Given the description of an element on the screen output the (x, y) to click on. 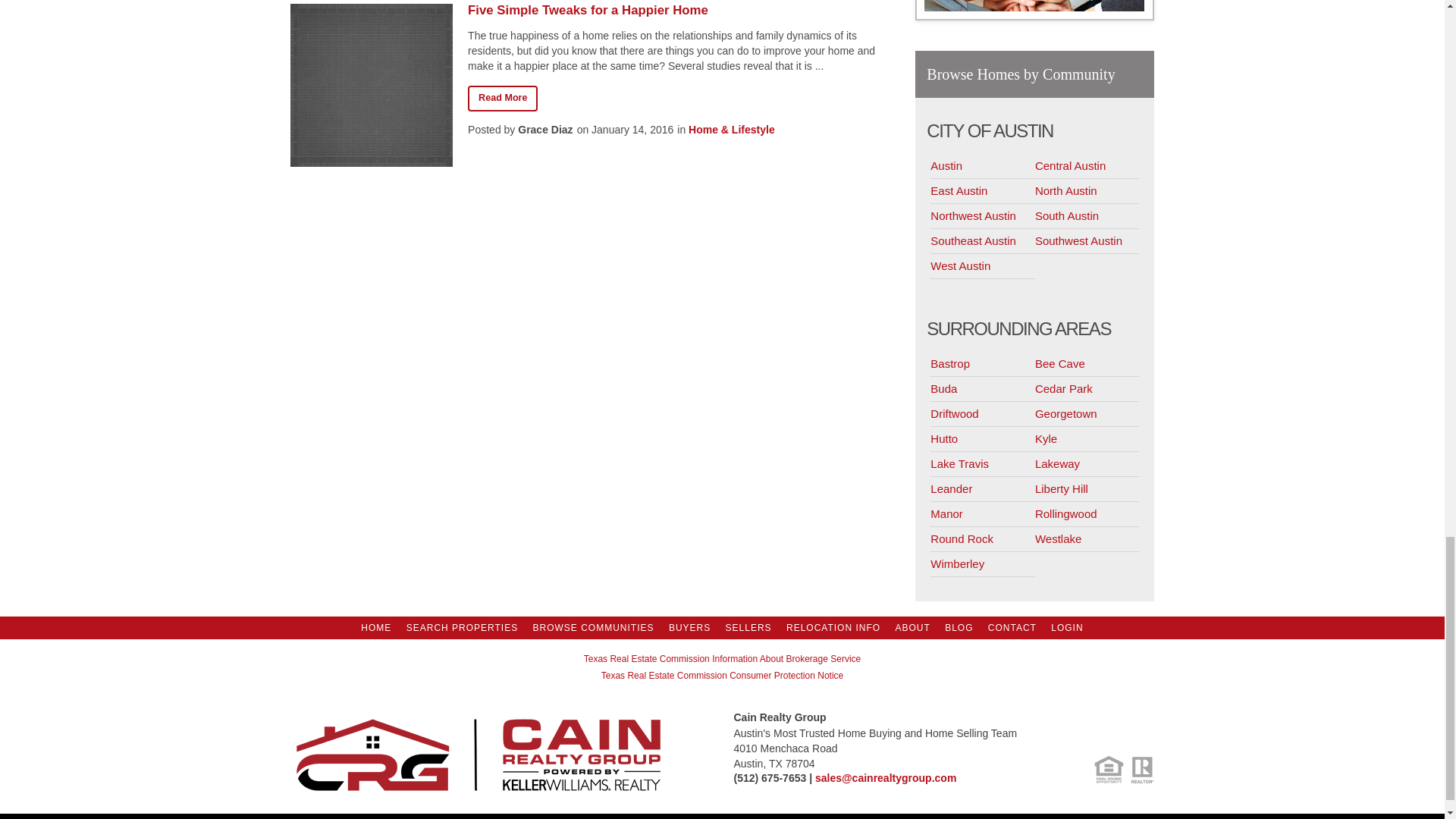
Five Simple Tweaks for a Happier Home (679, 10)
Five Simple Tweaks for a Happier Home (502, 98)
View Austin (982, 166)
